Given the description of an element on the screen output the (x, y) to click on. 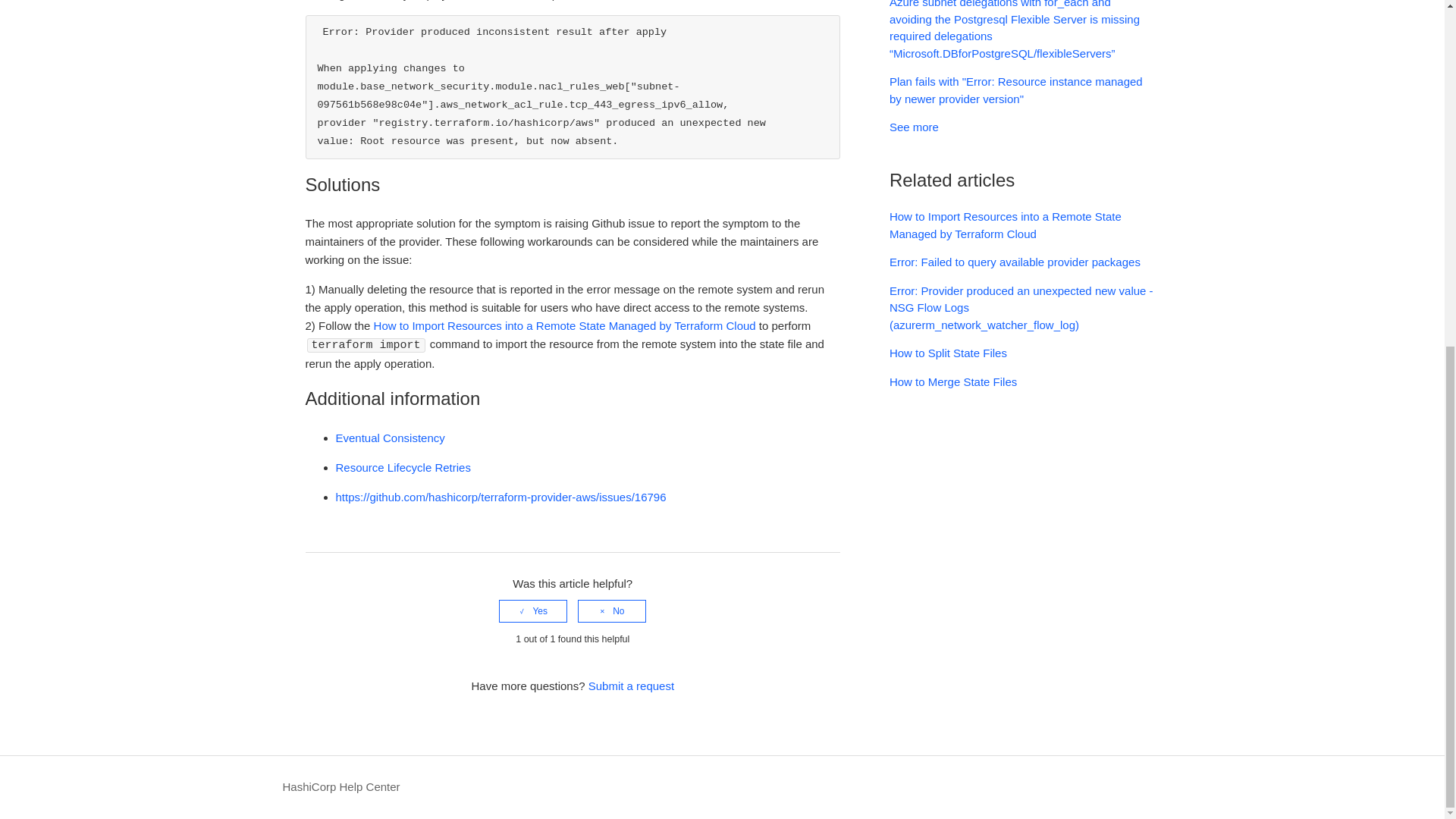
How to Split State Files (948, 352)
Eventual Consistency (389, 437)
Home (340, 787)
No (612, 610)
Submit a request (631, 685)
Yes (533, 610)
See more (914, 126)
